Given the description of an element on the screen output the (x, y) to click on. 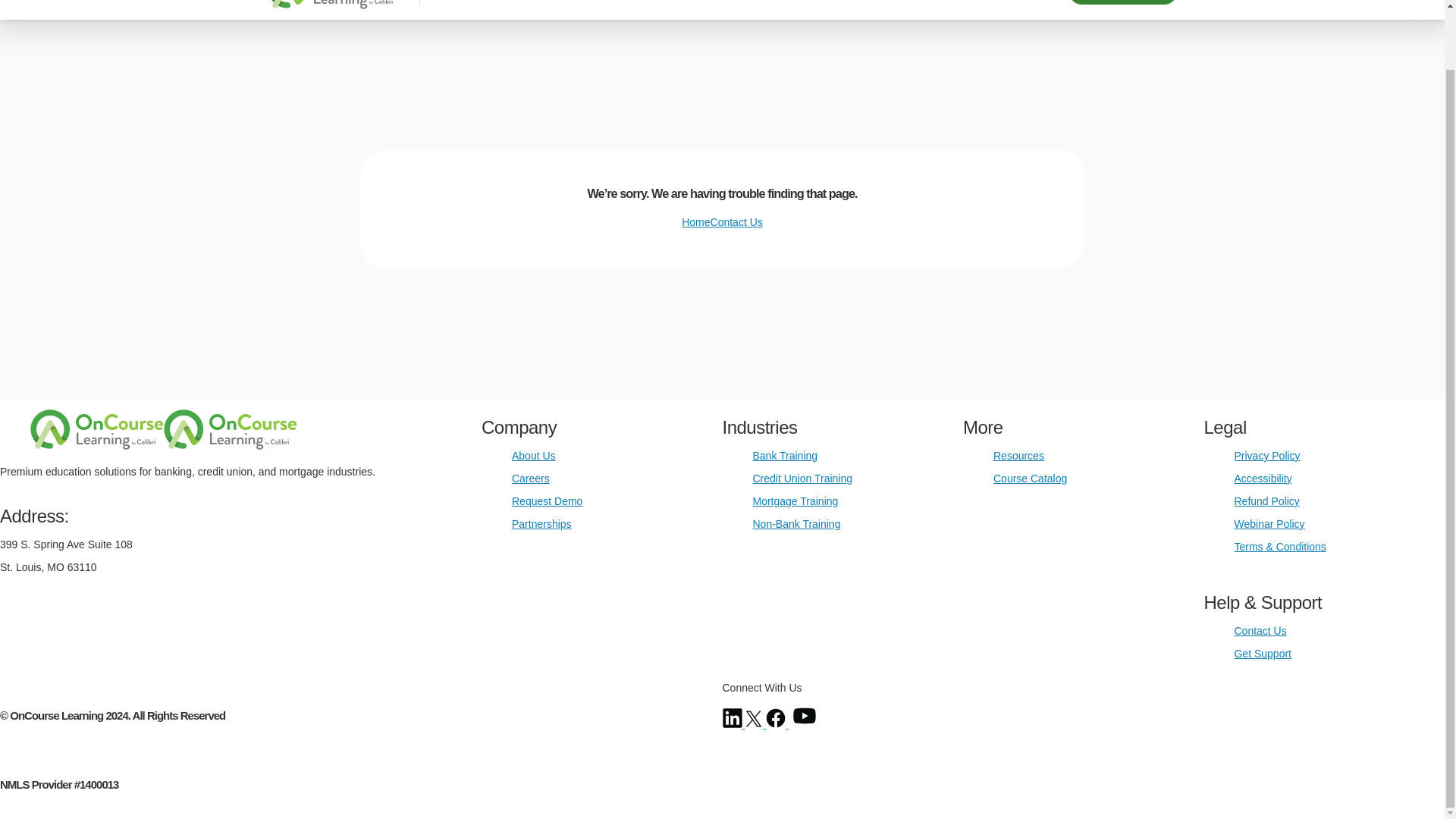
Get Support (1262, 653)
Request Demo (547, 500)
Careers (531, 478)
Resources (1017, 455)
Refund Policy (1265, 500)
Non-Bank Training (796, 523)
Contact Us (1259, 630)
Partnerships (542, 523)
Accessibility (1262, 478)
Course Catalog (1029, 478)
